Given the description of an element on the screen output the (x, y) to click on. 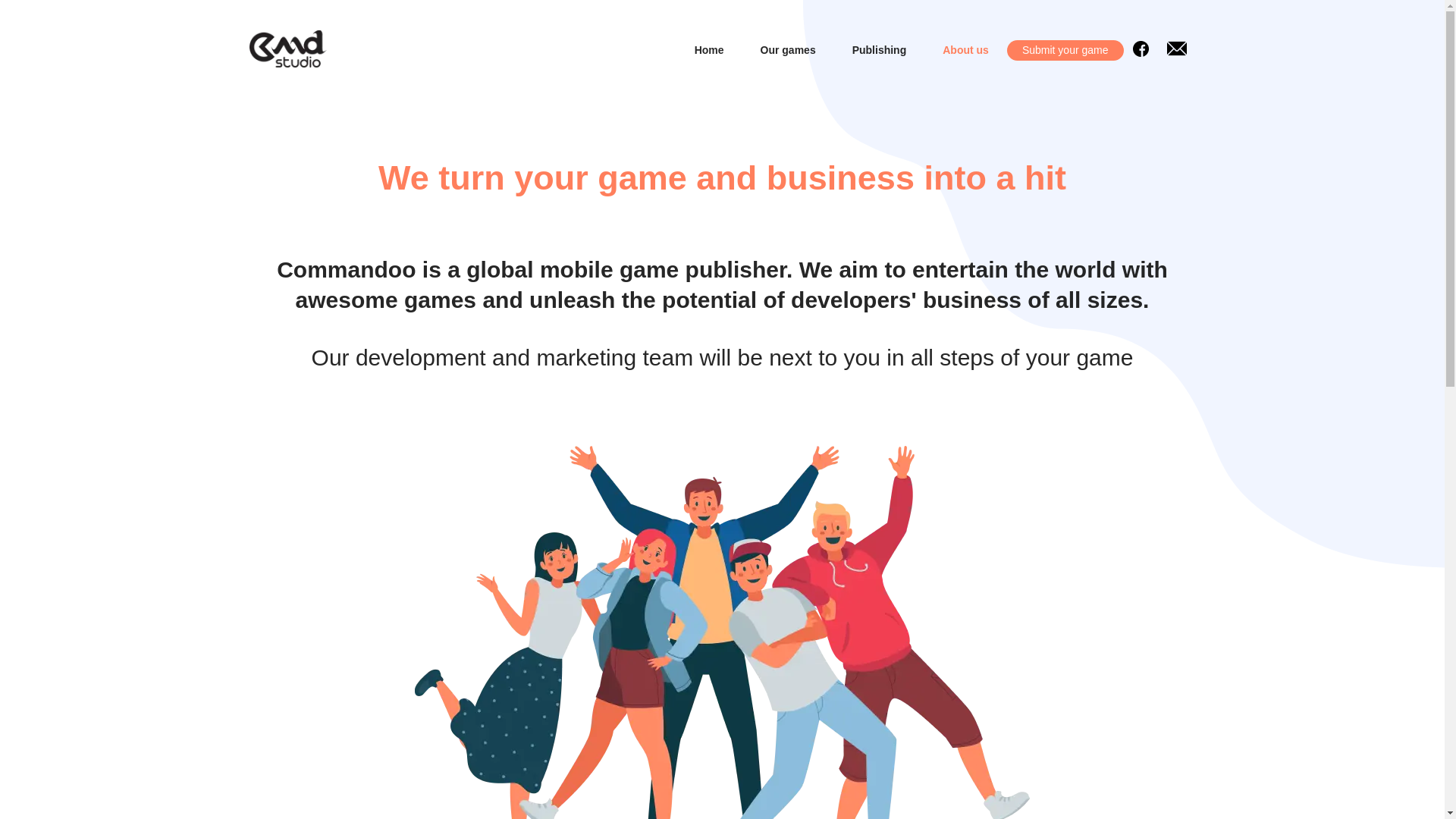
Our games (787, 50)
About us (965, 50)
Home (708, 50)
Submit your game (1065, 50)
Publishing (879, 50)
